Given the description of an element on the screen output the (x, y) to click on. 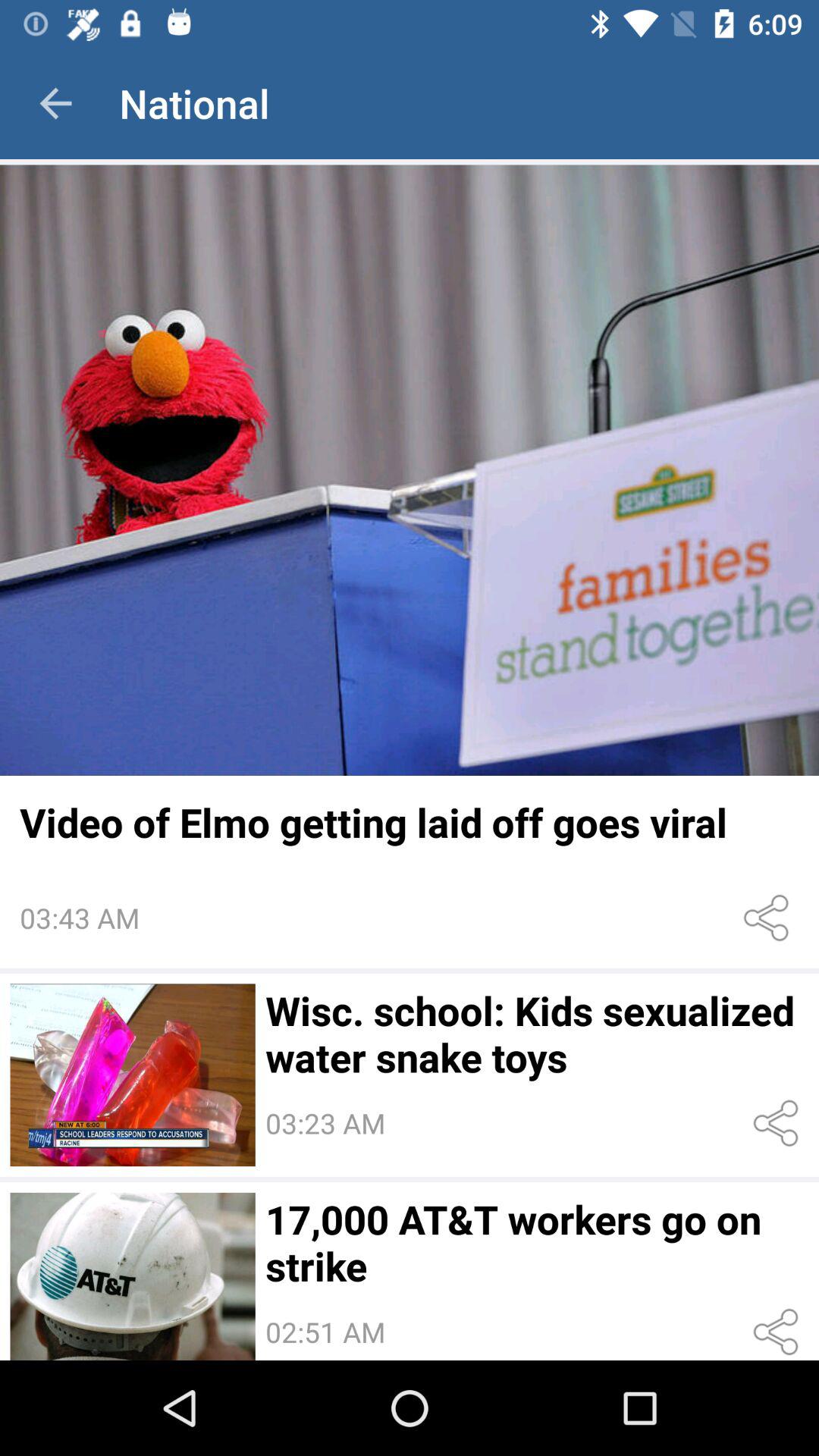
go to advertisement (409, 469)
